Given the description of an element on the screen output the (x, y) to click on. 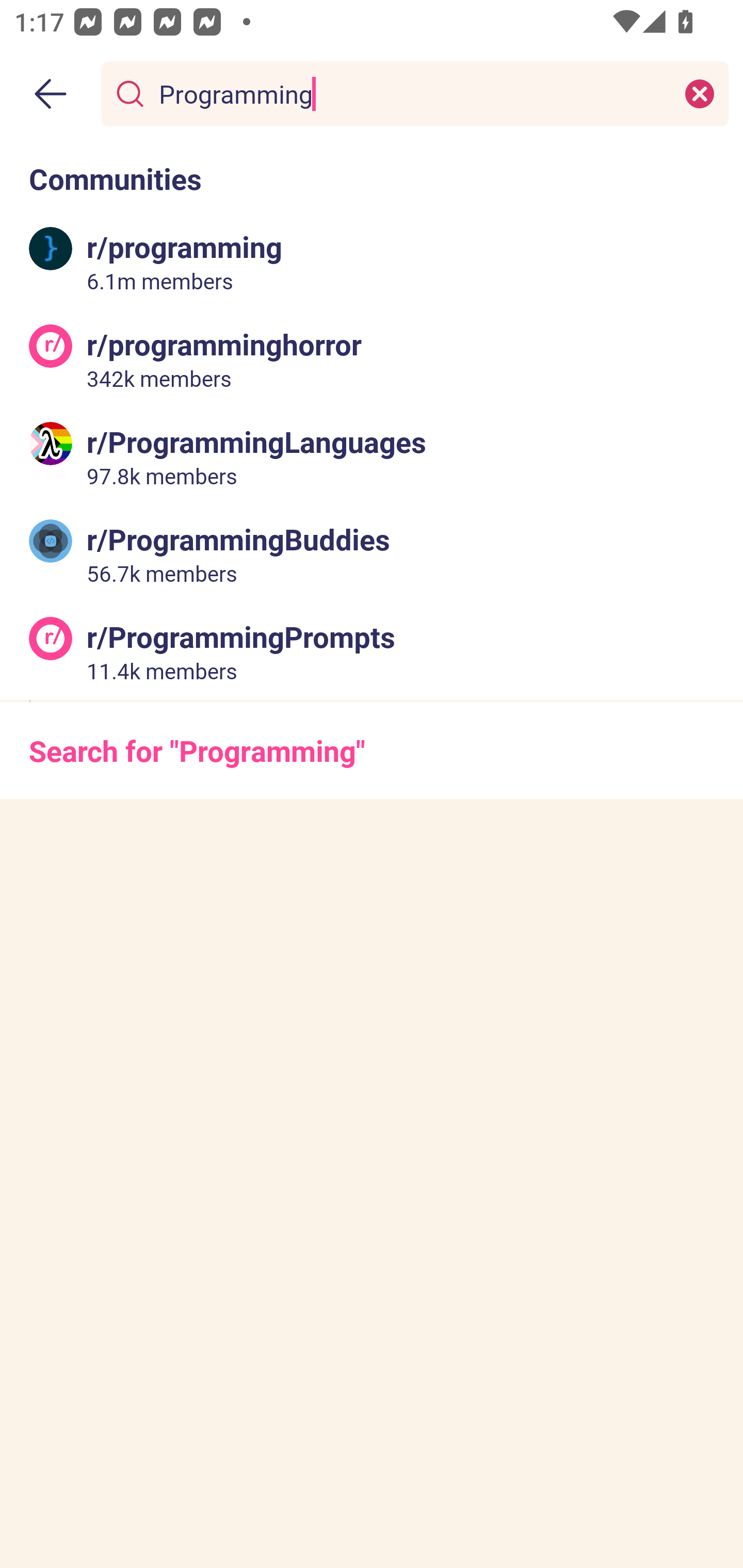
Back (50, 93)
Programming (410, 93)
Clear search (699, 93)
r/programming 6.1m members 6.1 million members (371, 261)
Search for "Programming" (371, 750)
